Given the description of an element on the screen output the (x, y) to click on. 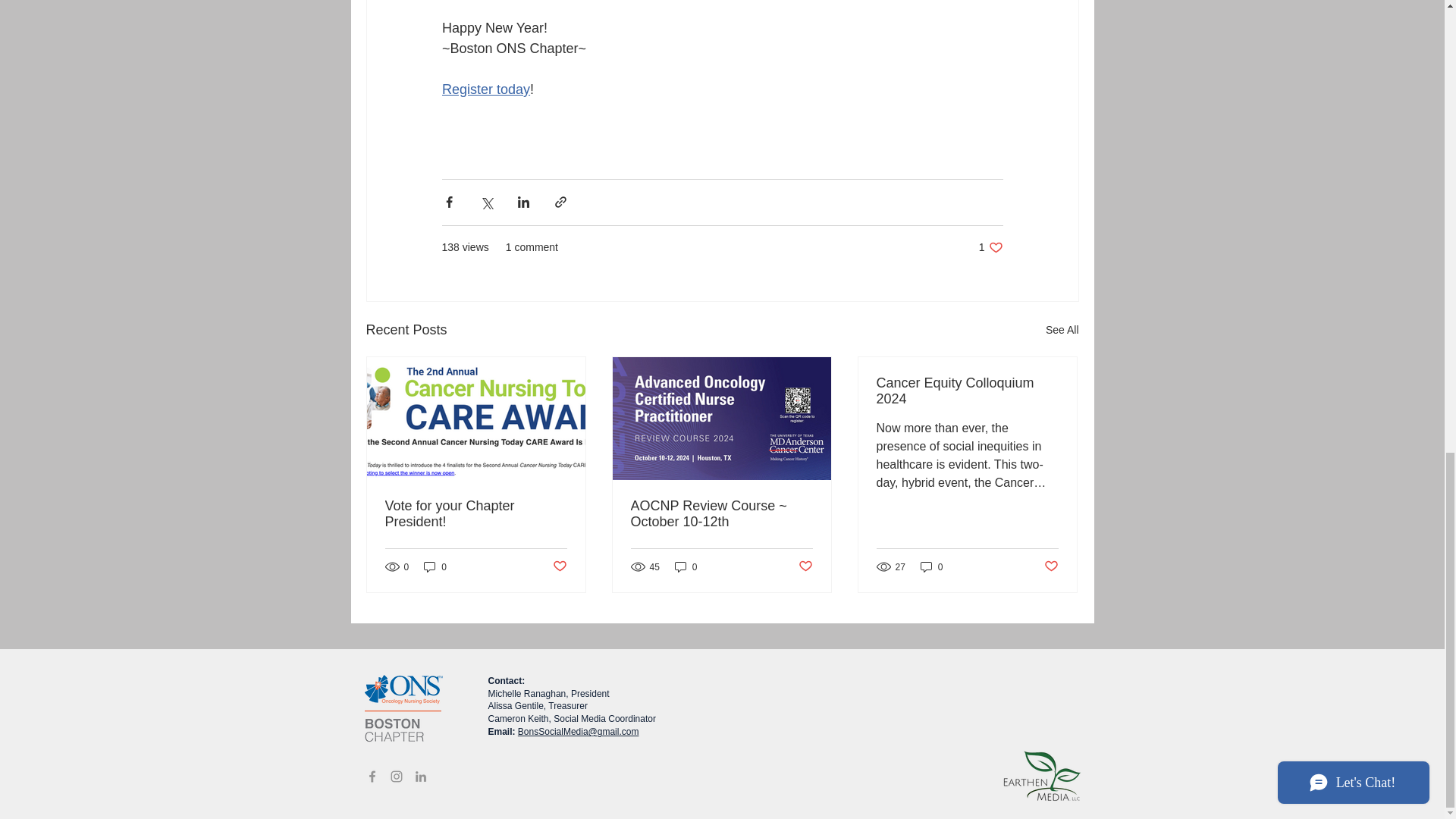
Vote for your Chapter President! (476, 513)
0 (685, 566)
Post not marked as liked (558, 566)
Post not marked as liked (804, 566)
Register today (990, 247)
0 (485, 89)
See All (435, 566)
